Given the description of an element on the screen output the (x, y) to click on. 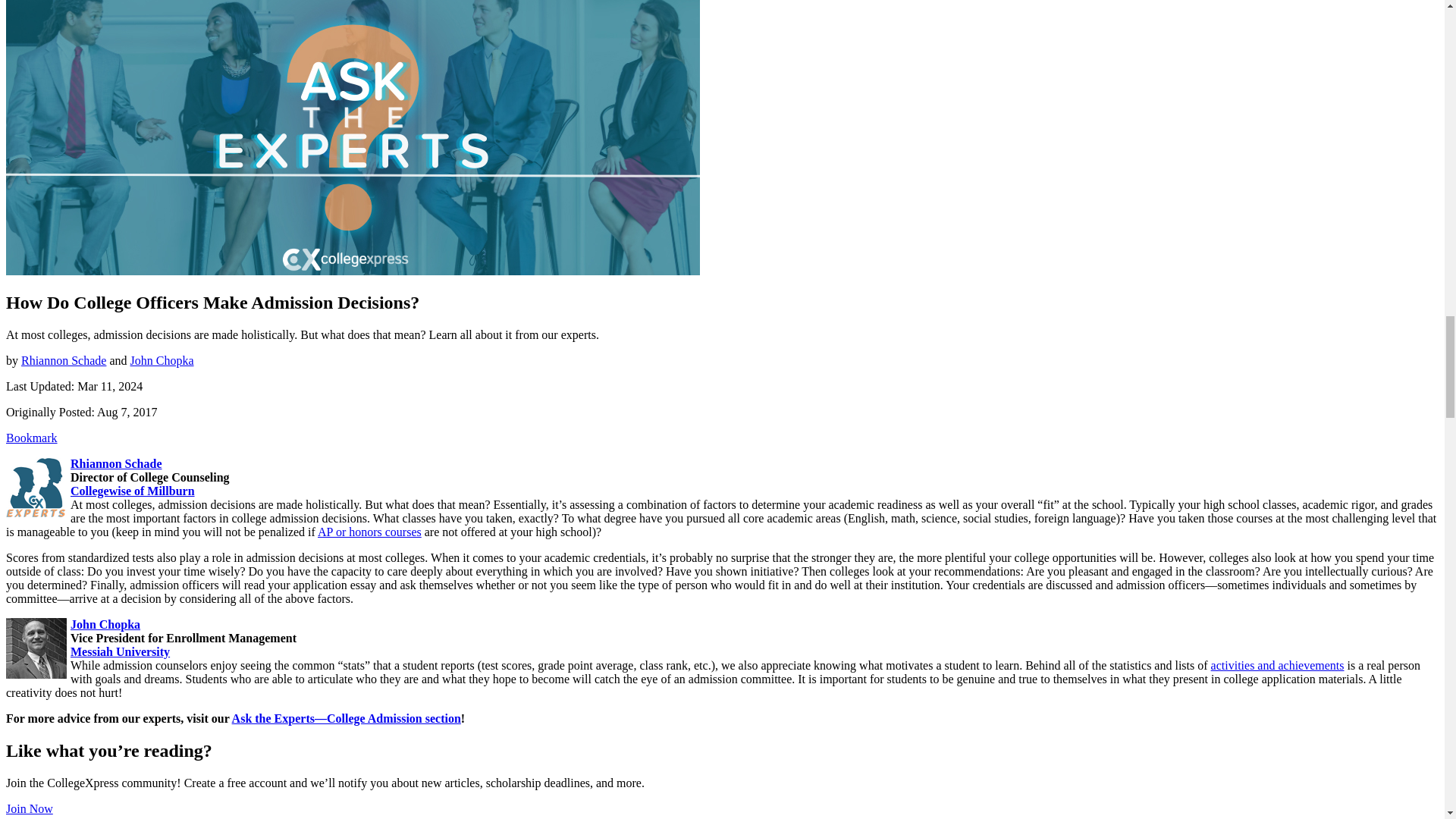
CX experts generic image (35, 487)
John Chopka (35, 648)
